Given the description of an element on the screen output the (x, y) to click on. 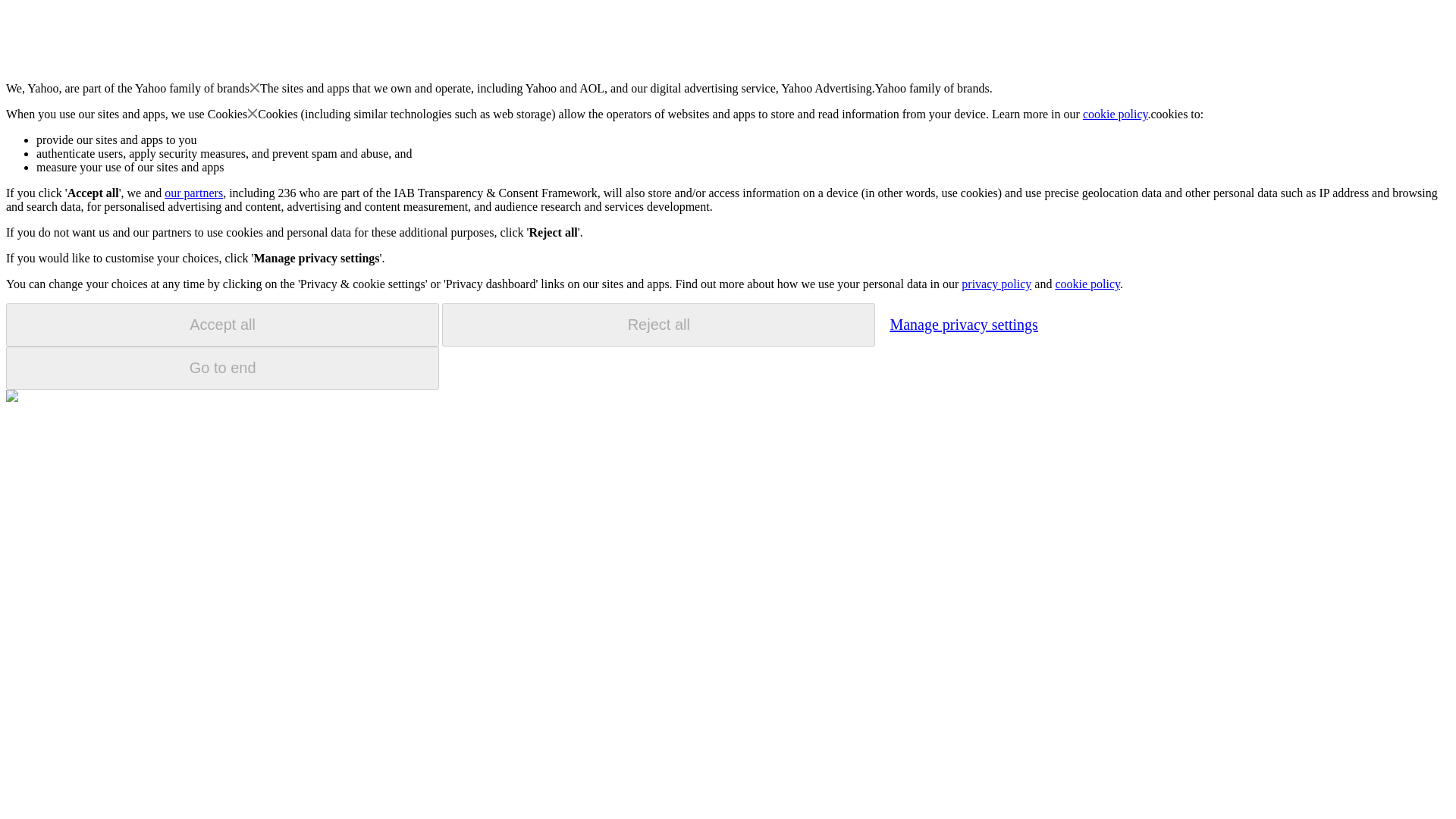
Go to end (222, 367)
Manage privacy settings (963, 323)
privacy policy (995, 283)
cookie policy (1115, 113)
Accept all (222, 324)
our partners (193, 192)
cookie policy (1086, 283)
Reject all (658, 324)
